Given the description of an element on the screen output the (x, y) to click on. 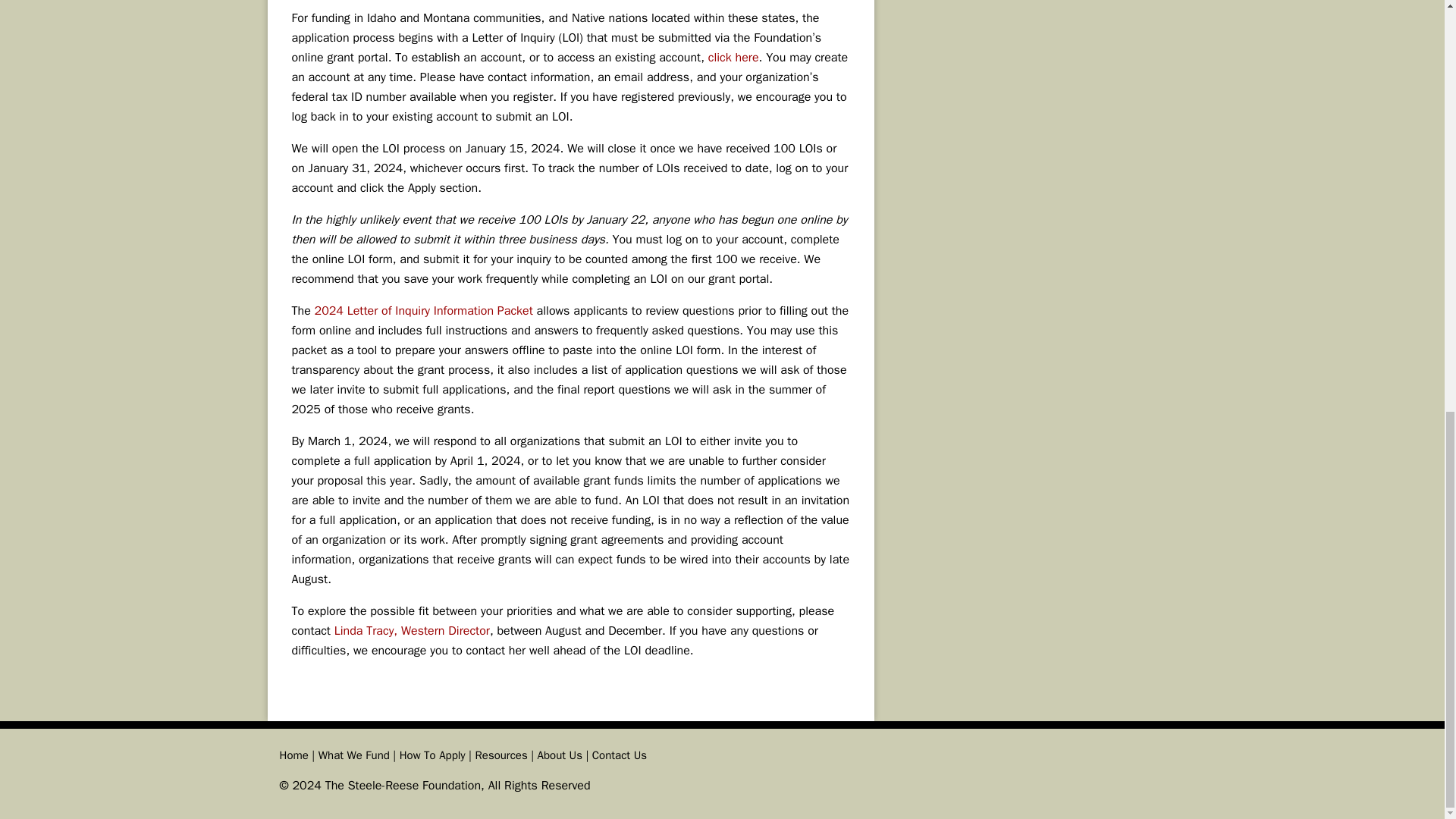
Home (293, 755)
click here (732, 57)
Linda Tracy, Western Director (411, 630)
2024 Letter of Inquiry Information Packet (423, 310)
